Given the description of an element on the screen output the (x, y) to click on. 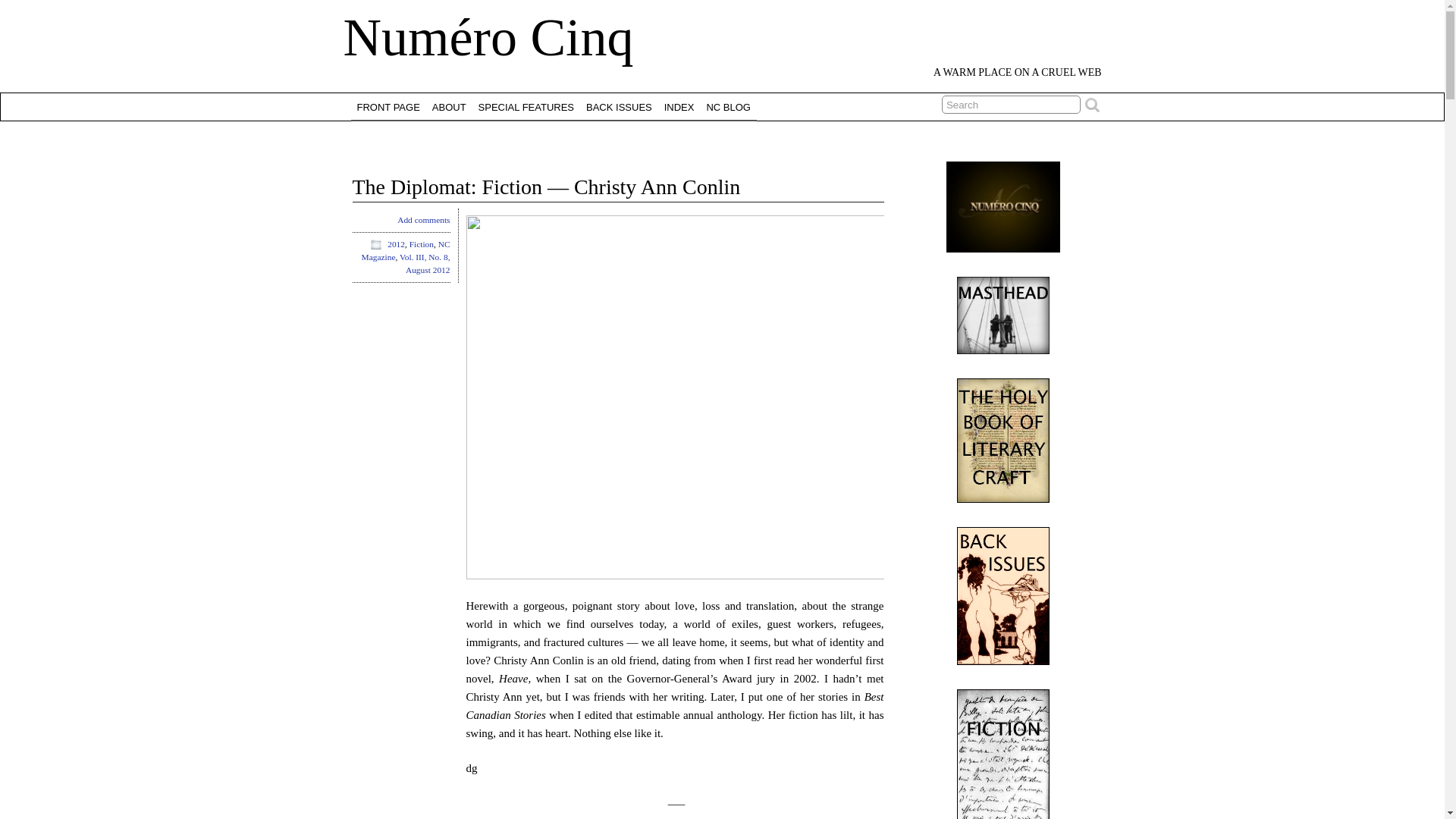
SPECIAL FEATURES (525, 106)
Search (1011, 104)
FRONT PAGE (387, 106)
BACK ISSUES (618, 106)
NC BLOG (728, 106)
INDEX (679, 106)
Search (1011, 104)
ABOUT (448, 106)
